Given the description of an element on the screen output the (x, y) to click on. 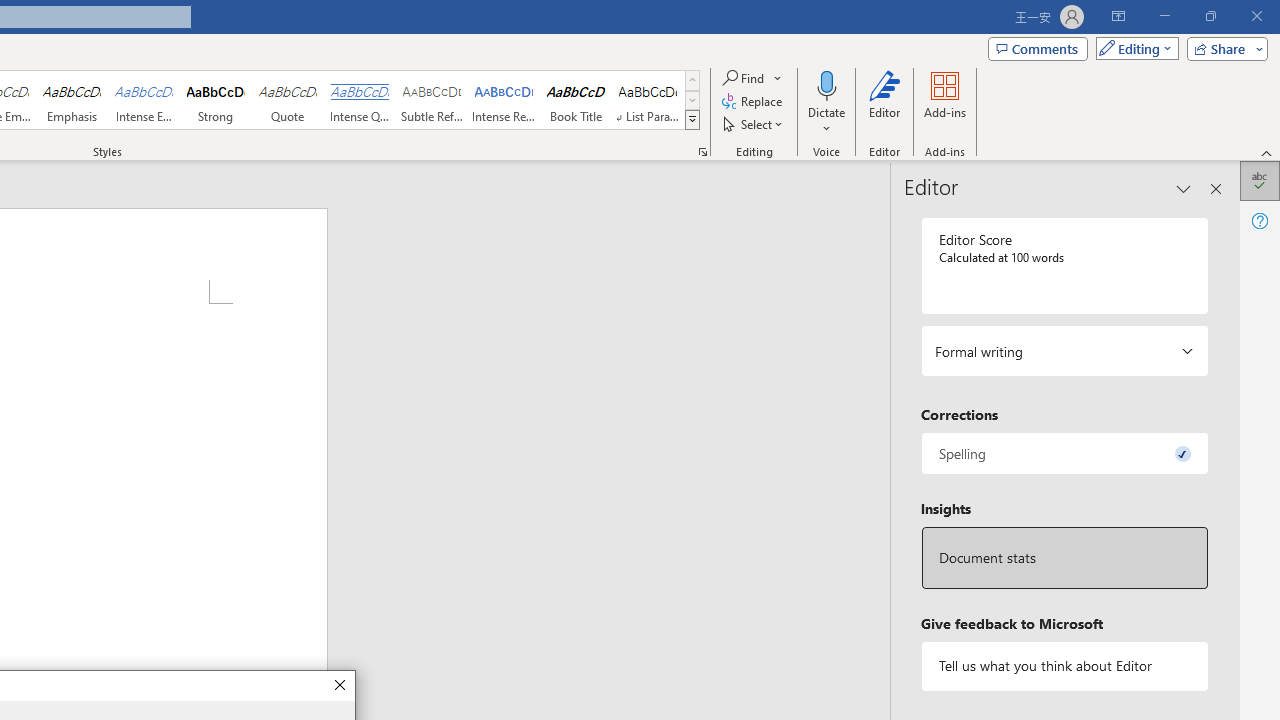
Close (338, 686)
